Given the description of an element on the screen output the (x, y) to click on. 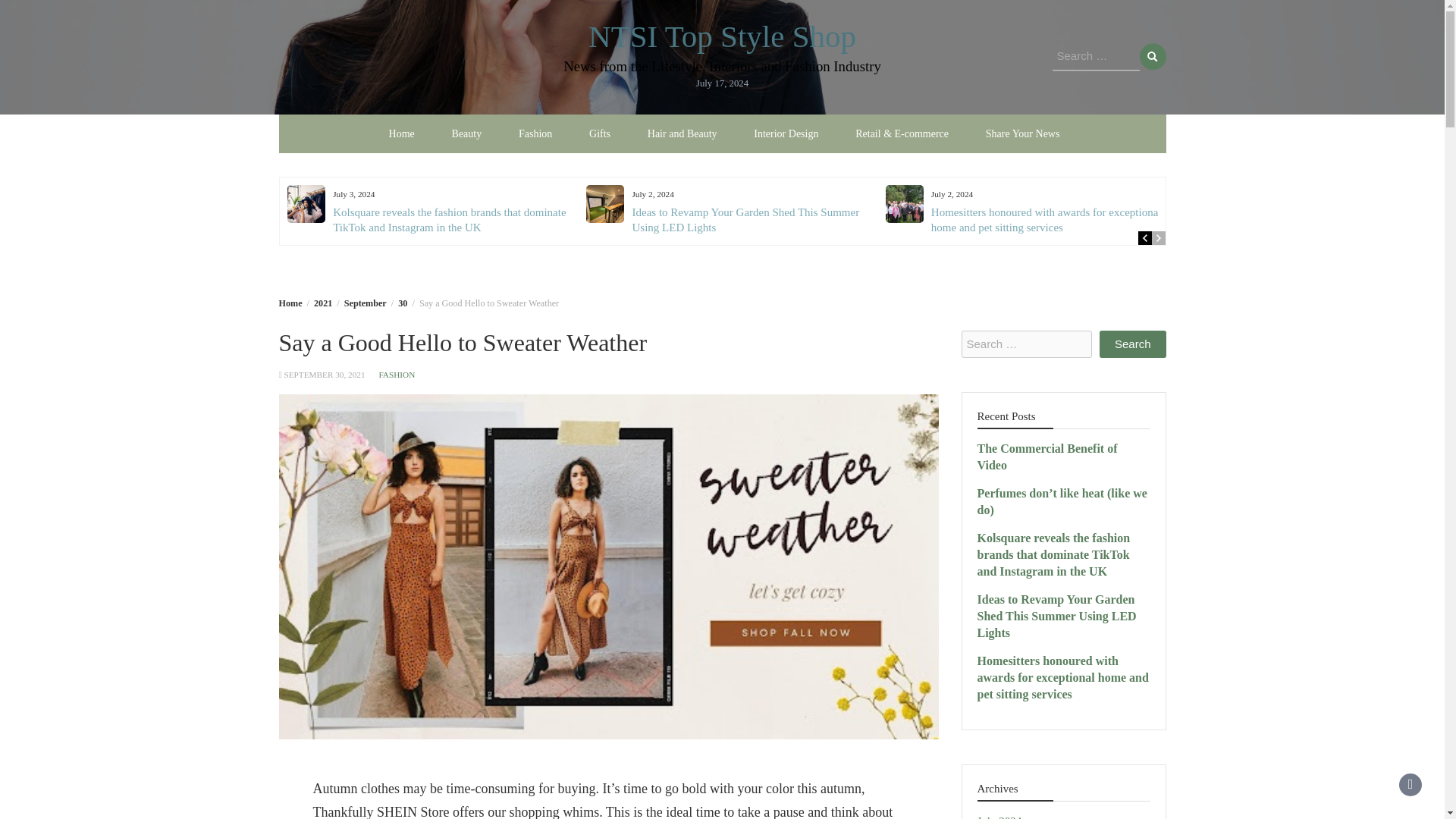
Share Your News (1023, 132)
Home (401, 132)
Fashion (535, 132)
Search (1132, 344)
2021 (322, 302)
NTSI Top Style Shop (722, 36)
Search (1132, 344)
SEPTEMBER 30, 2021 (324, 374)
Beauty (466, 132)
Interior Design (785, 132)
Search for: (1096, 57)
Gifts (599, 132)
